Given the description of an element on the screen output the (x, y) to click on. 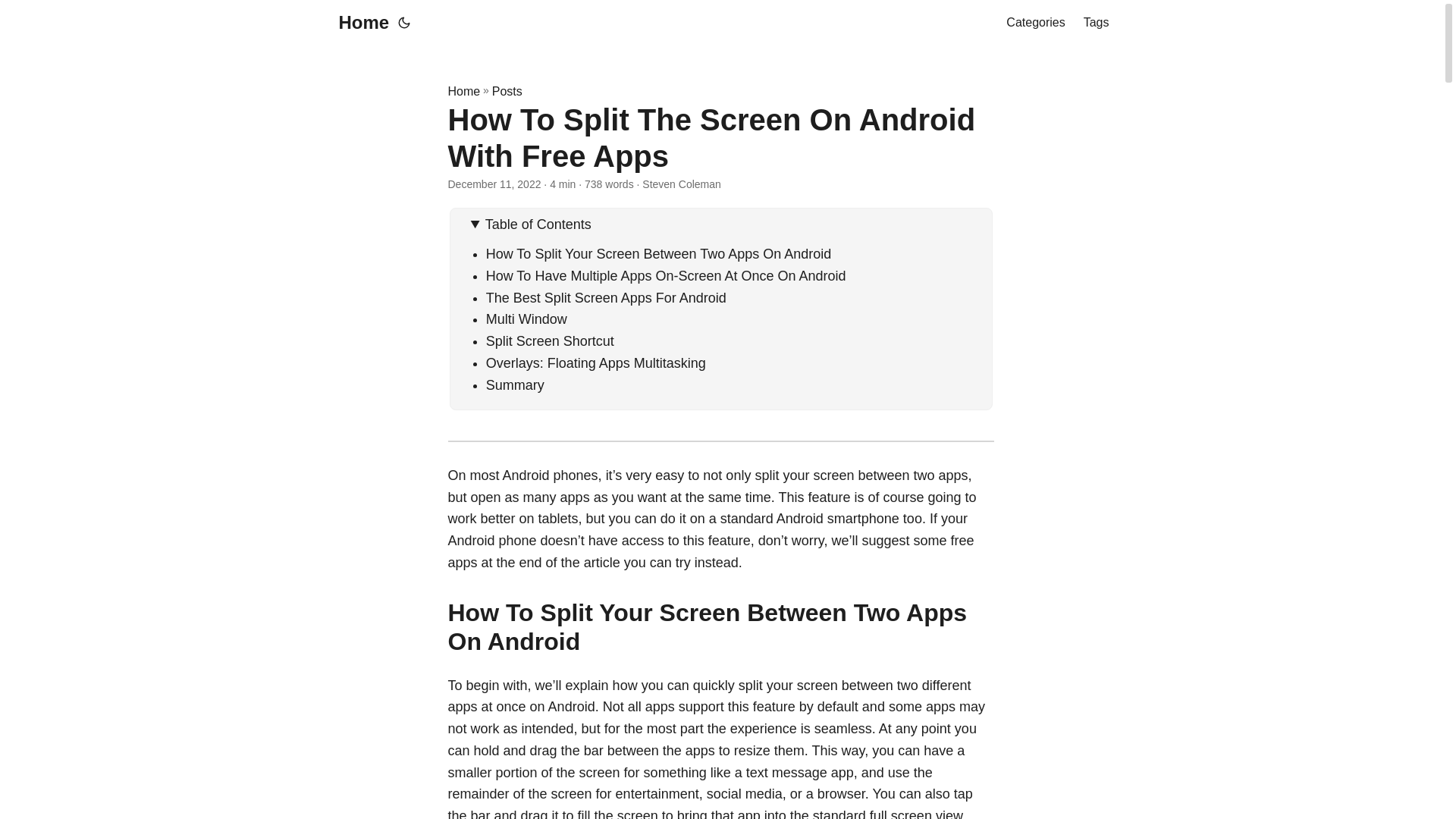
How To Split Your Screen Between Two Apps On Android (658, 253)
Home (359, 22)
Categories (1035, 22)
Posts (507, 91)
Overlays: Floating Apps Multitasking (596, 363)
Summary (515, 385)
Home (463, 91)
The Best Split Screen Apps For Android (606, 297)
How To Have Multiple Apps On-Screen At Once On Android (665, 275)
Multi Window (526, 319)
